Given the description of an element on the screen output the (x, y) to click on. 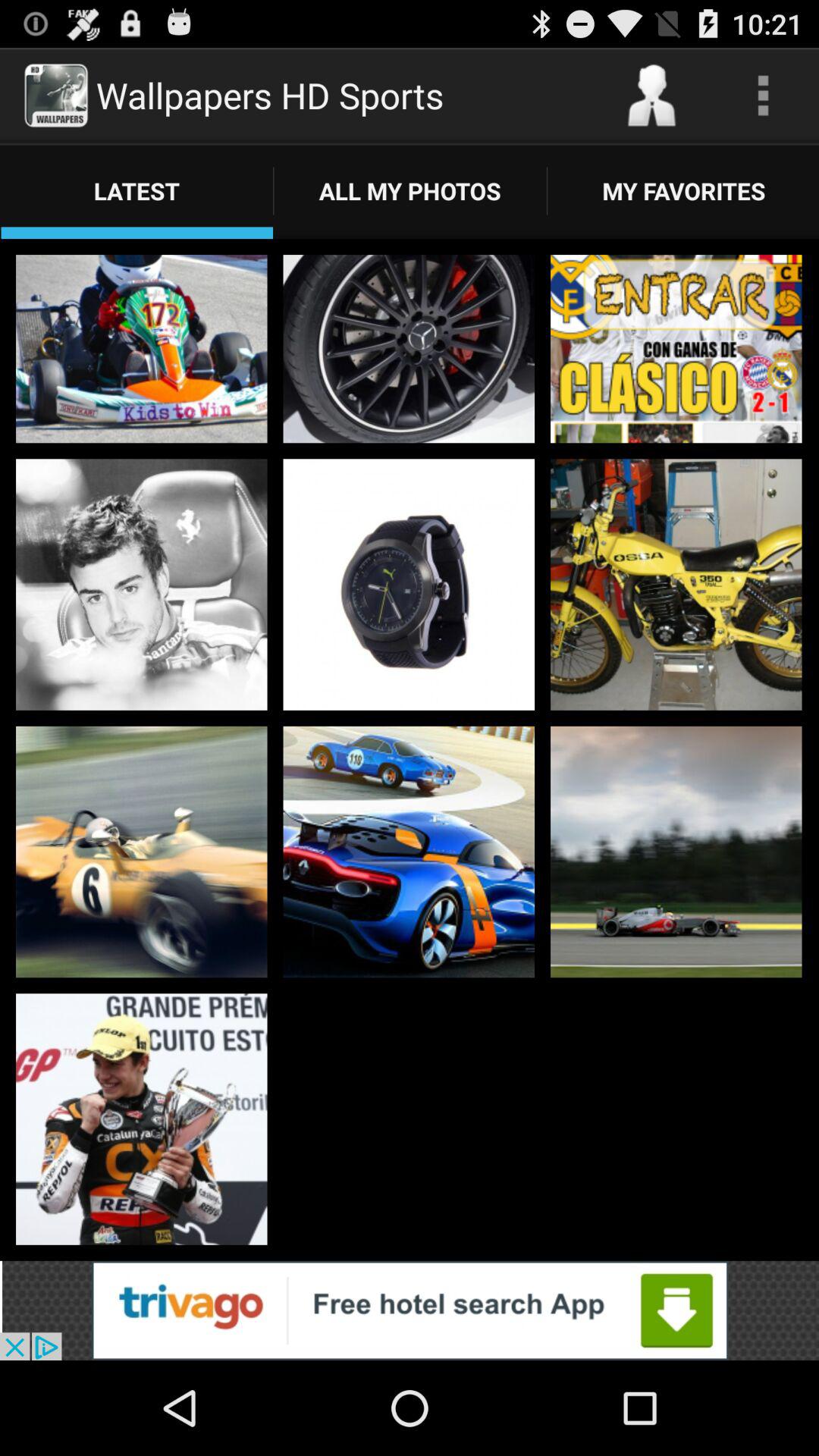
open advertisement (409, 1310)
